Given the description of an element on the screen output the (x, y) to click on. 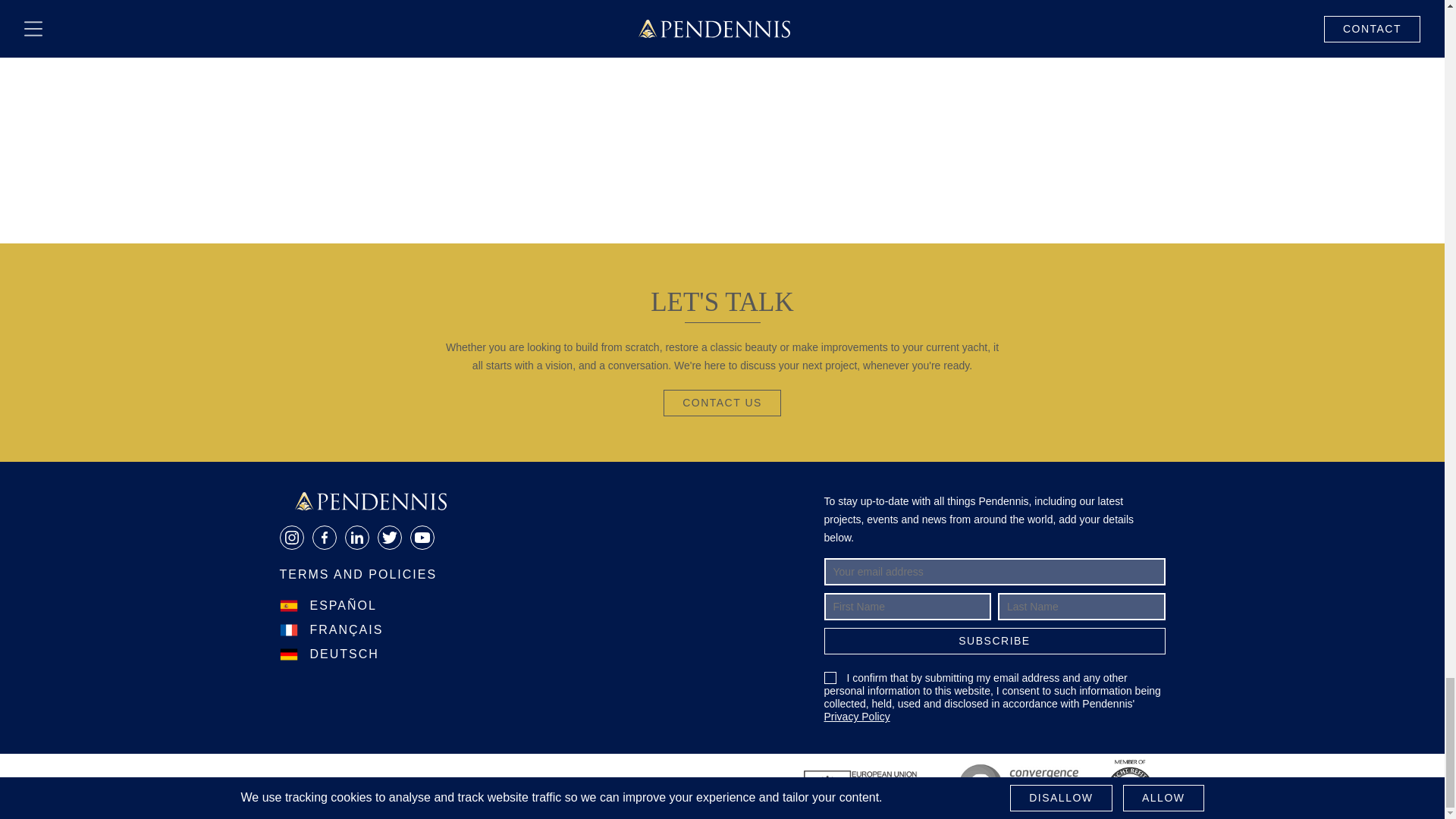
Twitter (388, 537)
DEUTSCH (328, 654)
YouTube (421, 537)
LinkedIn (357, 537)
TERMS AND POLICIES (357, 574)
Facebook (323, 537)
SUBSCRIBE (994, 641)
Privacy Policy (856, 716)
on (829, 677)
Instagram (291, 537)
CONTACT US (721, 402)
Pendennis (370, 501)
Website by Nixon (332, 786)
